Given the description of an element on the screen output the (x, y) to click on. 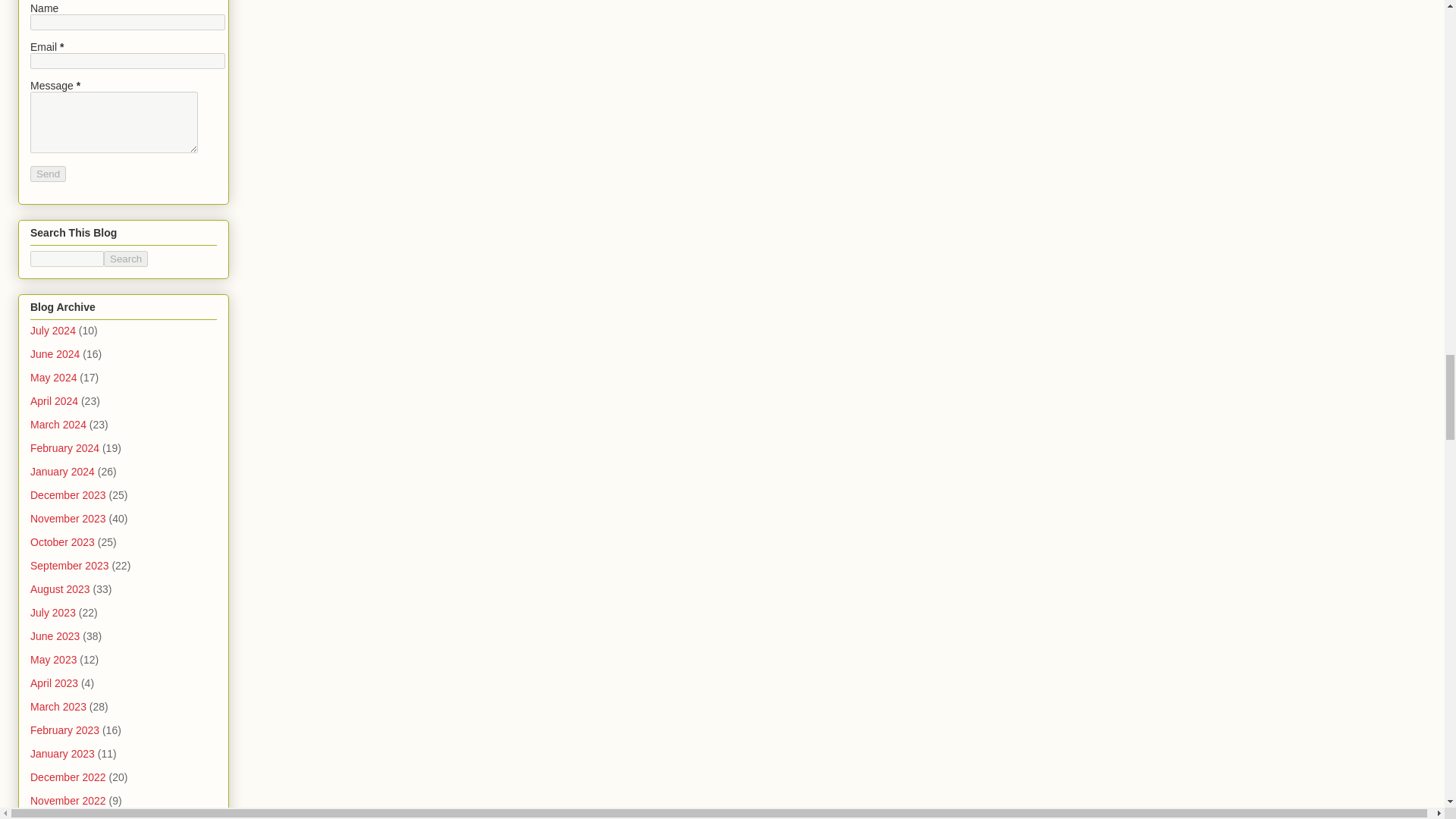
Send (47, 173)
search (66, 258)
Search (125, 258)
Search (125, 258)
search (125, 258)
